Given the description of an element on the screen output the (x, y) to click on. 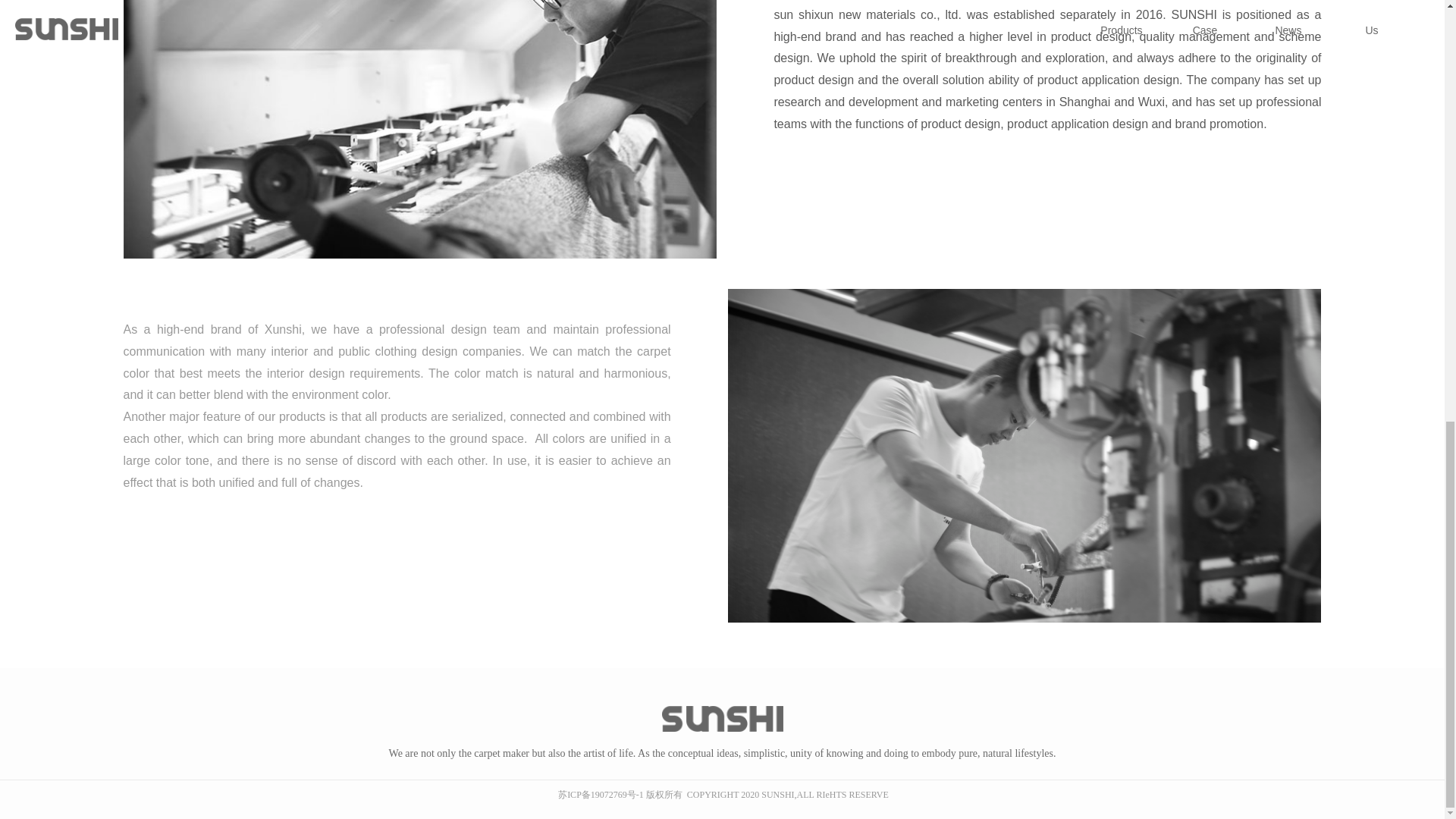
logo (722, 718)
